Given the description of an element on the screen output the (x, y) to click on. 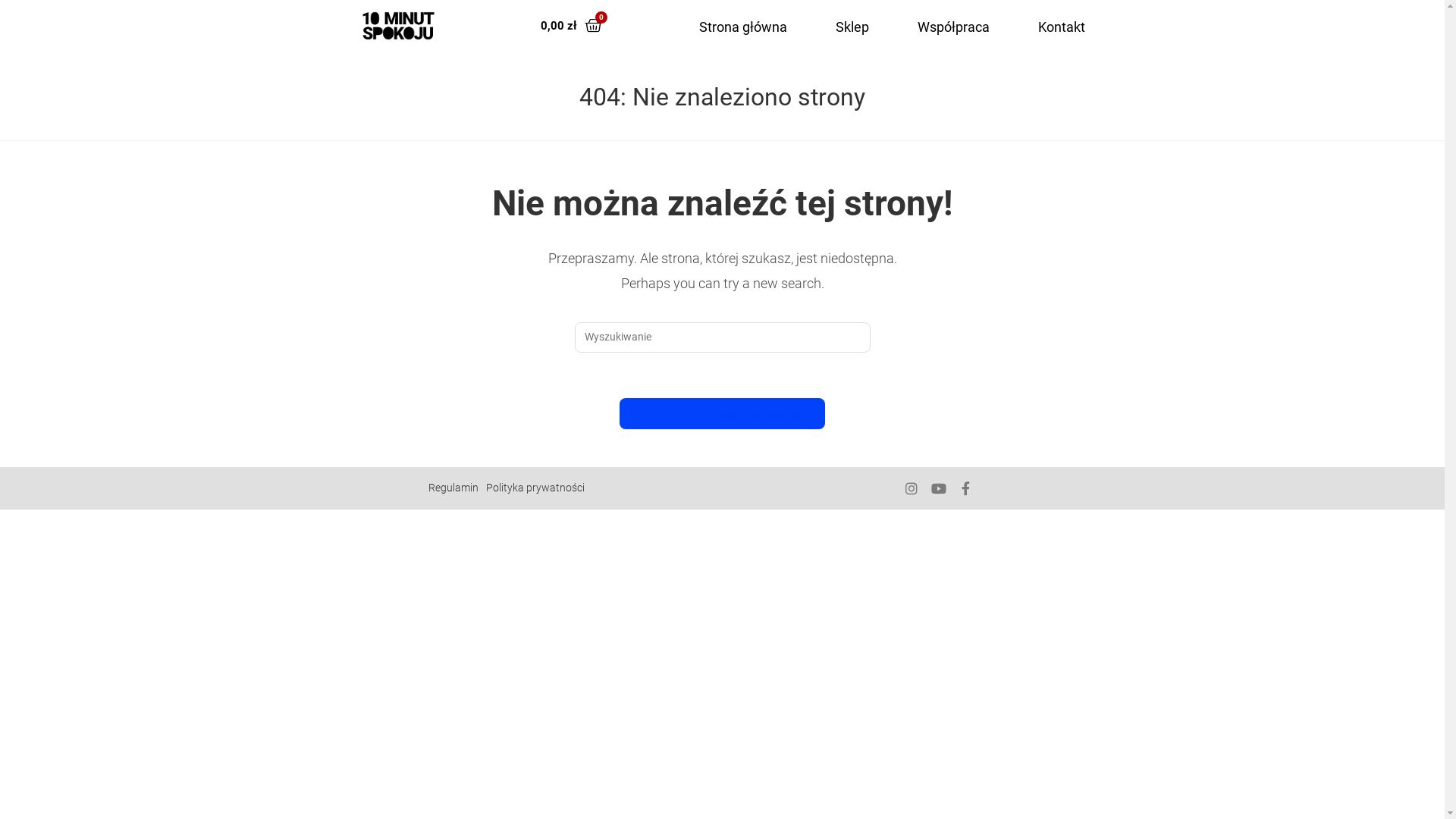
Regulamin Element type: text (452, 487)
Kontakt Element type: text (1061, 27)
Sklep Element type: text (852, 27)
